Given the description of an element on the screen output the (x, y) to click on. 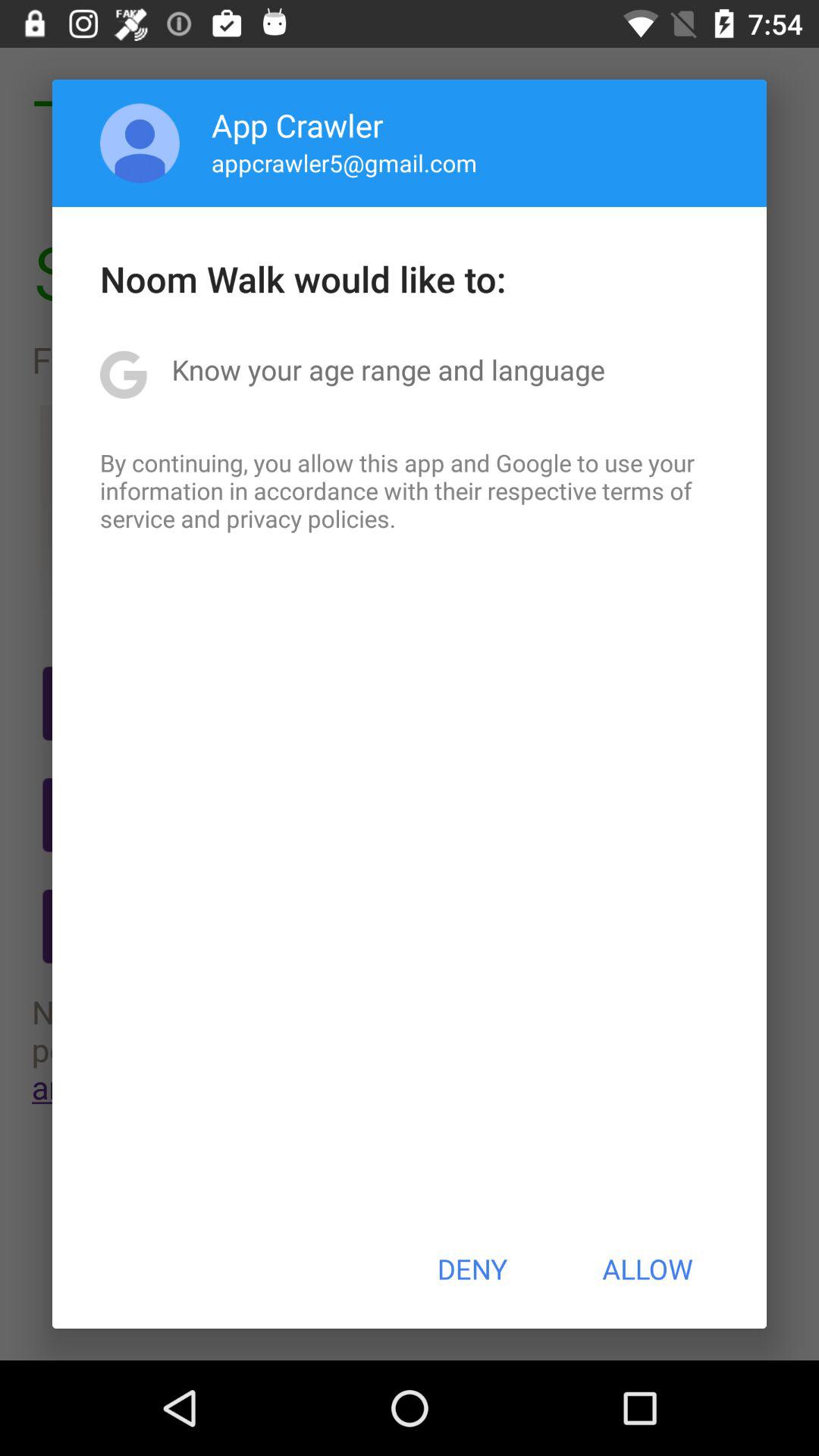
open the app below noom walk would item (388, 369)
